Given the description of an element on the screen output the (x, y) to click on. 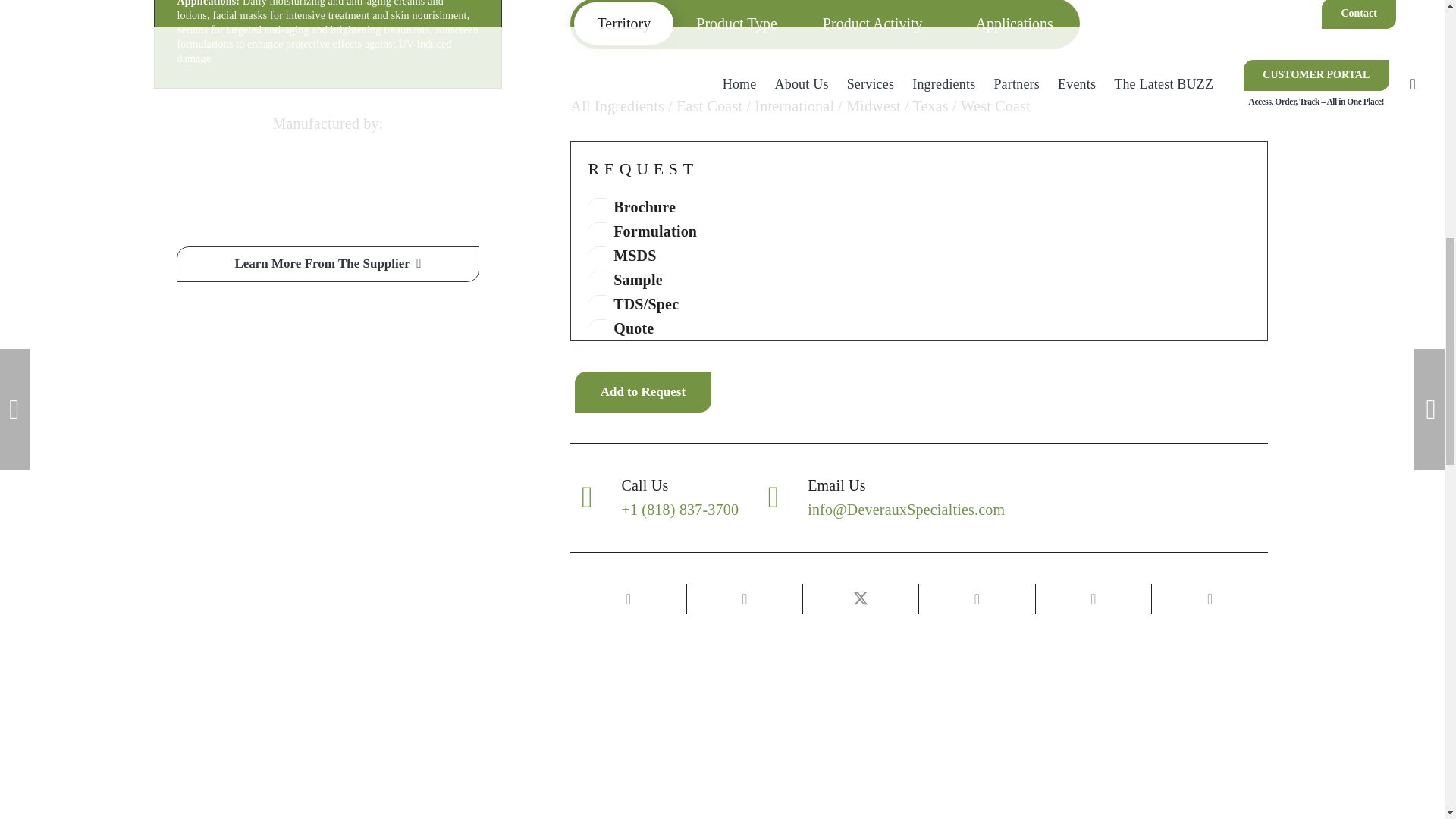
Applications (1009, 23)
brochure (597, 206)
Back to top (1413, 26)
quote (597, 327)
Learn More From The Supplier (327, 264)
Texas (930, 105)
Email this (627, 598)
Product Activity (871, 23)
Midwest (872, 105)
Tweet this (860, 598)
